Given the description of an element on the screen output the (x, y) to click on. 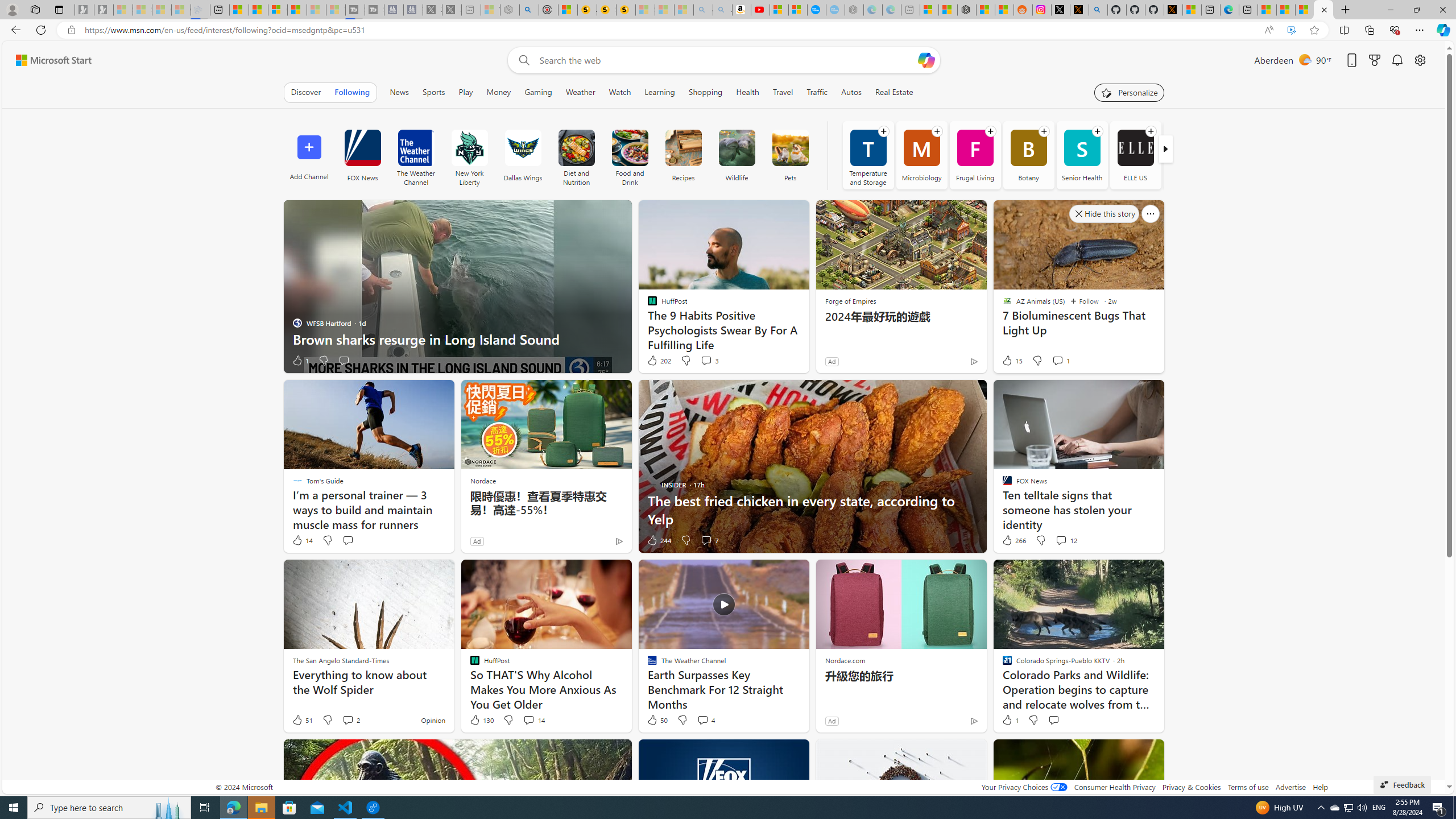
Skip to content (49, 59)
51 Like (301, 719)
Weather (580, 92)
Personalize your feed" (1129, 92)
Food and Drink (629, 147)
View comments 2 Comment (347, 719)
View comments 12 Comment (1061, 540)
Autos (851, 92)
Mostly sunny (1304, 59)
Pets (790, 155)
Real Estate (893, 92)
View comments 3 Comment (705, 360)
